Given the description of an element on the screen output the (x, y) to click on. 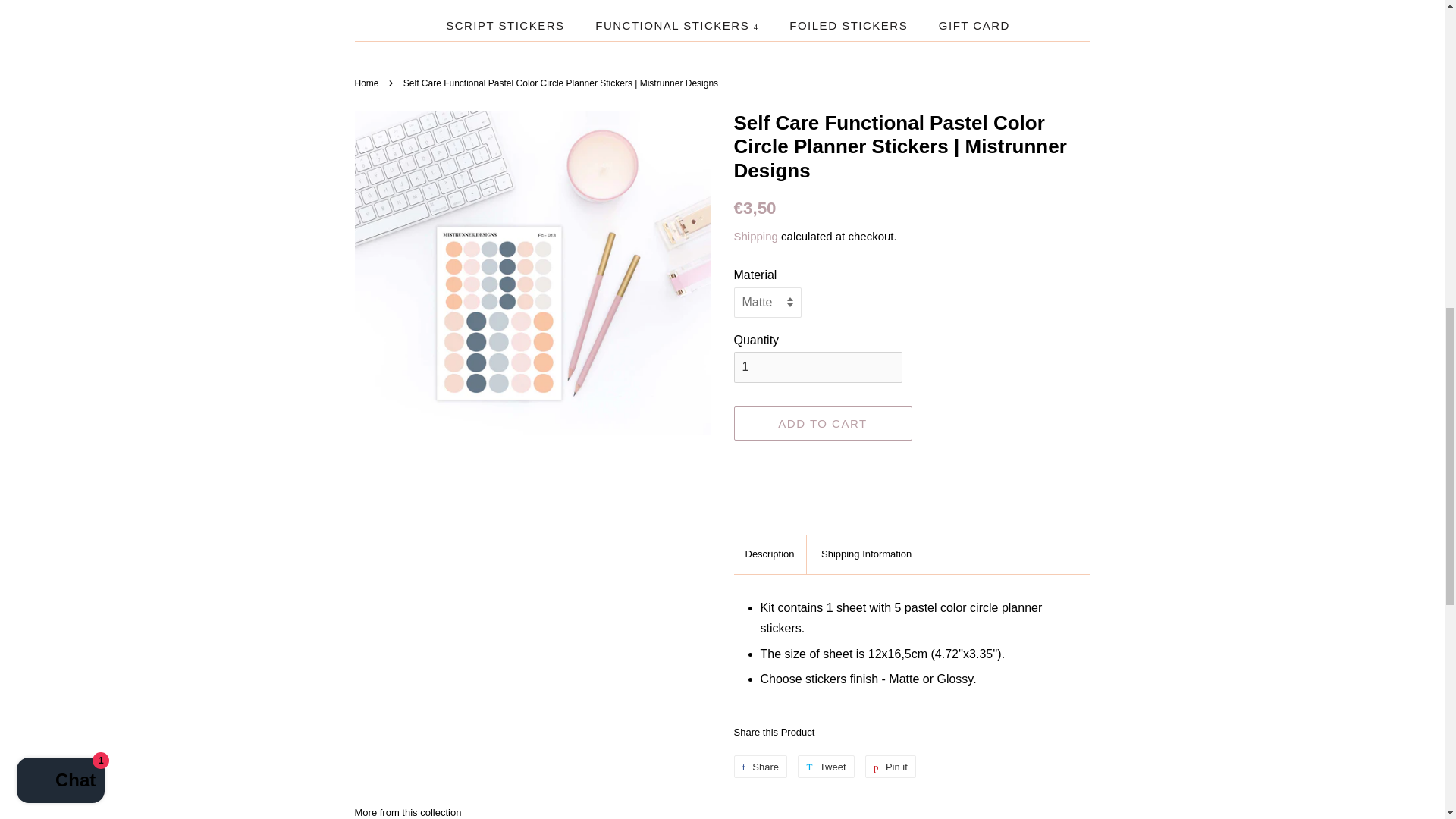
DECORATIVE ICONS (946, 5)
NEW RELEASES (543, 5)
FUNCTIONAL STICKERS (678, 25)
Tweet on Twitter (825, 766)
Pin on Pinterest (889, 766)
1 (817, 367)
SCRIPT STICKERS (506, 25)
Back to the frontpage (368, 82)
MONTHLY KITS (673, 5)
Share on Facebook (760, 766)
HOME (447, 5)
WEEKLY KITS (801, 5)
